Given the description of an element on the screen output the (x, y) to click on. 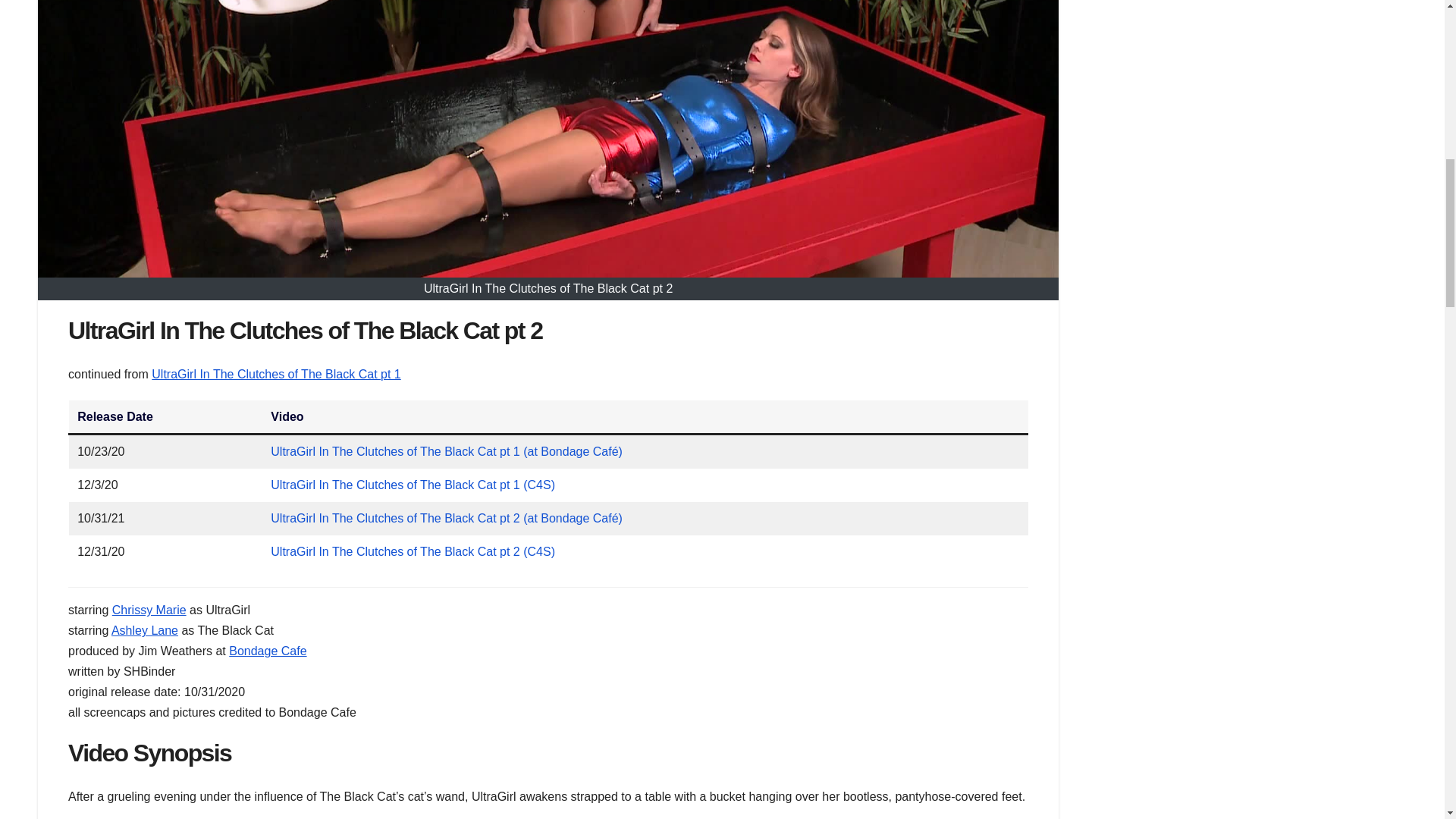
UltraGirl In The Clutches of The Black Cat pt 1 (275, 373)
